Given the description of an element on the screen output the (x, y) to click on. 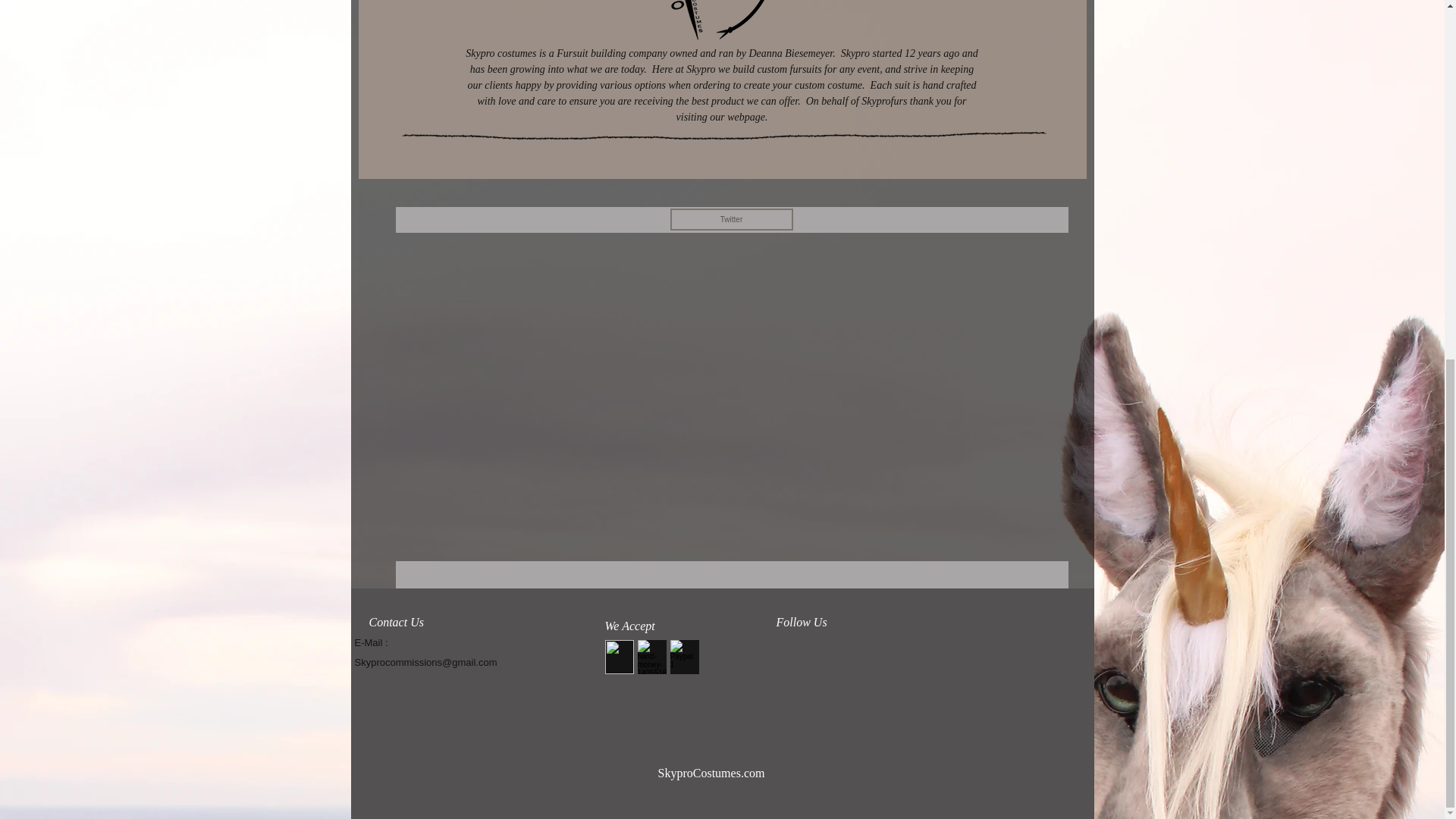
Twitter (731, 219)
